Given the description of an element on the screen output the (x, y) to click on. 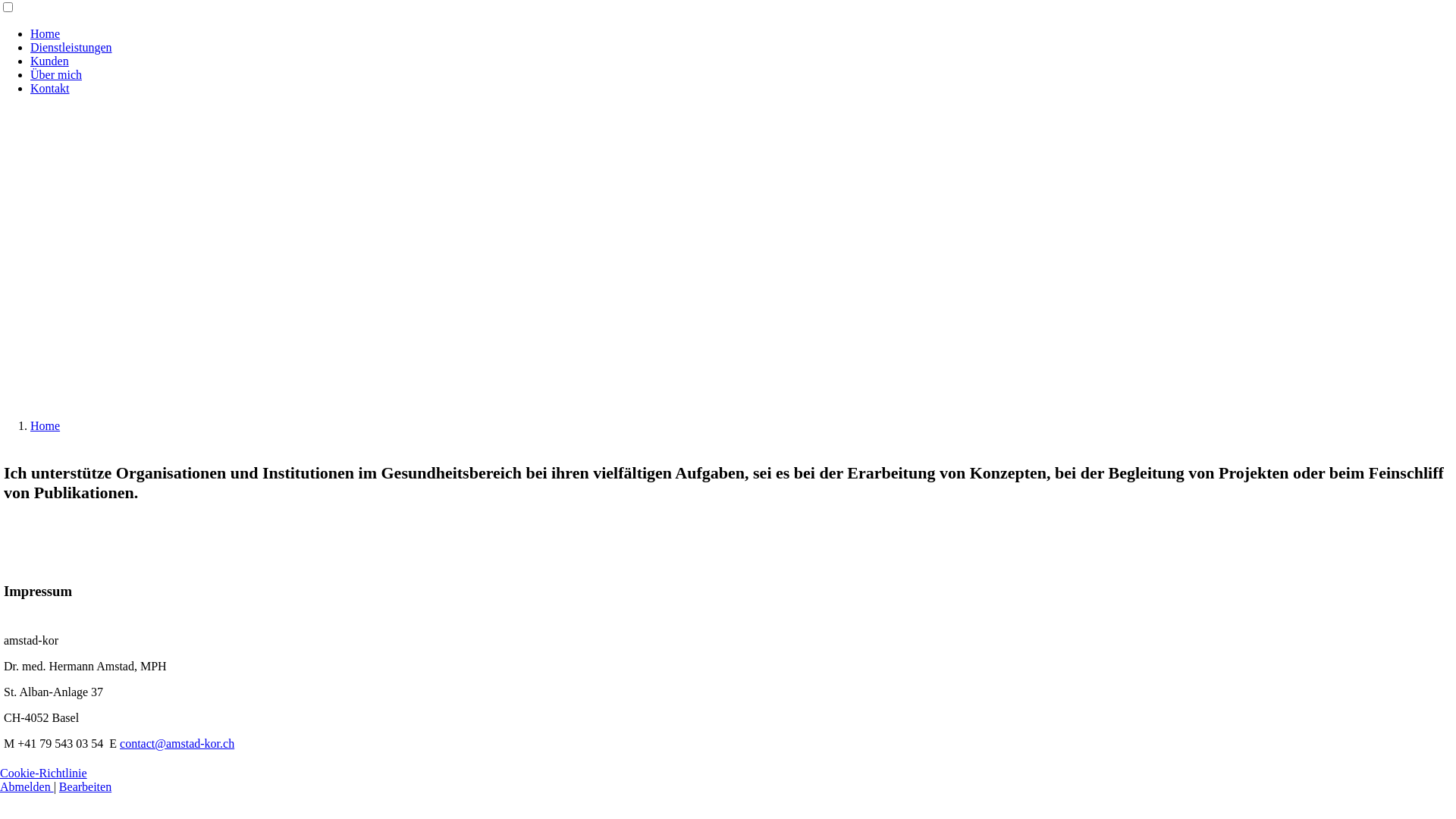
Cookie-Richtlinie Element type: text (43, 772)
Bearbeiten Element type: text (85, 786)
Kontakt Element type: text (49, 87)
contact@amstad-kor.ch Element type: text (176, 743)
Abmelden Element type: text (26, 786)
Kunden Element type: text (49, 60)
Home Element type: text (44, 425)
Home Element type: text (44, 33)
Dienstleistungen Element type: text (71, 46)
